Given the description of an element on the screen output the (x, y) to click on. 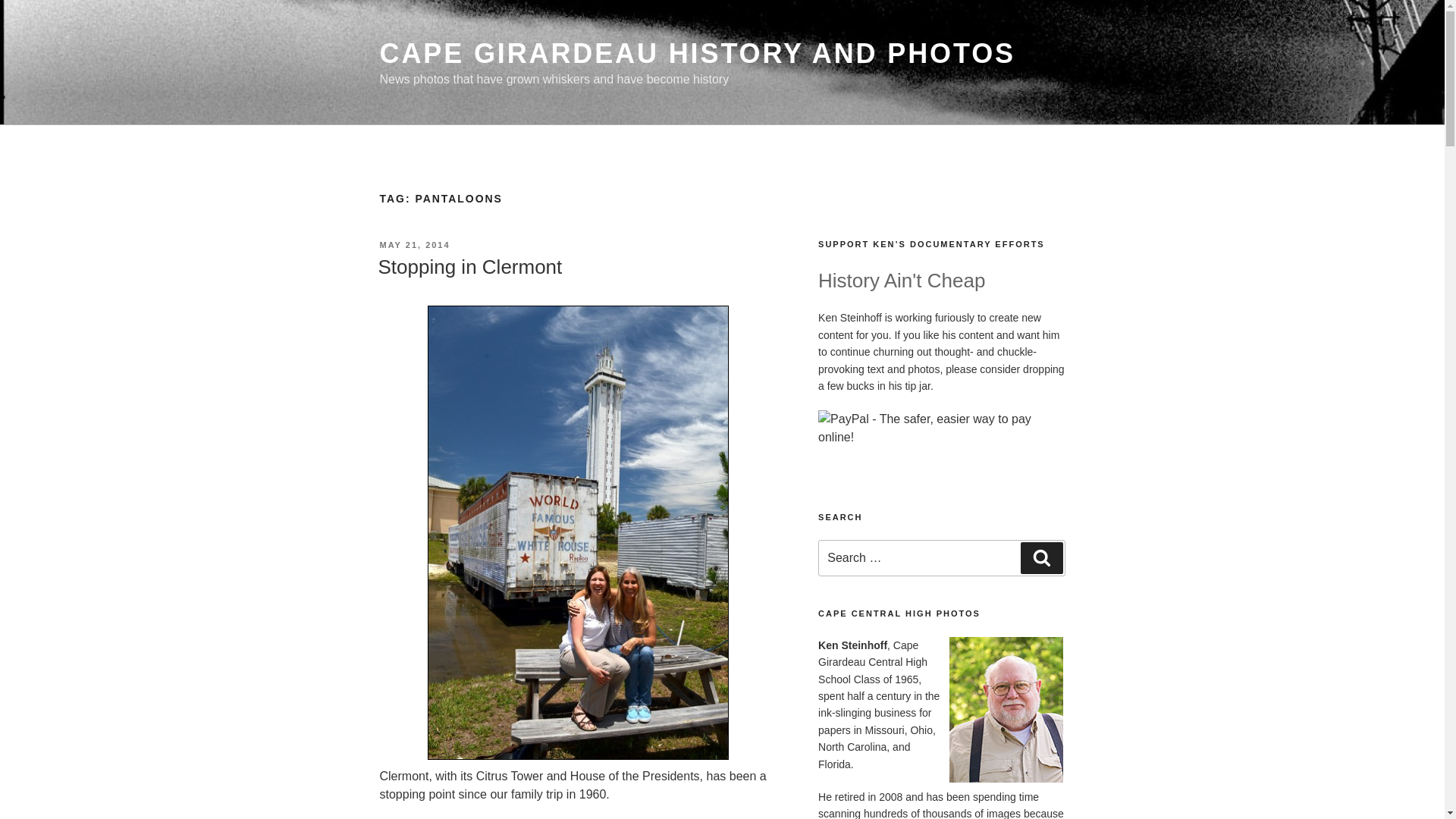
MAY 21, 2014 (413, 244)
Stopping in Clermont (469, 266)
Search (1041, 558)
CAPE GIRARDEAU HISTORY AND PHOTOS (696, 52)
